Given the description of an element on the screen output the (x, y) to click on. 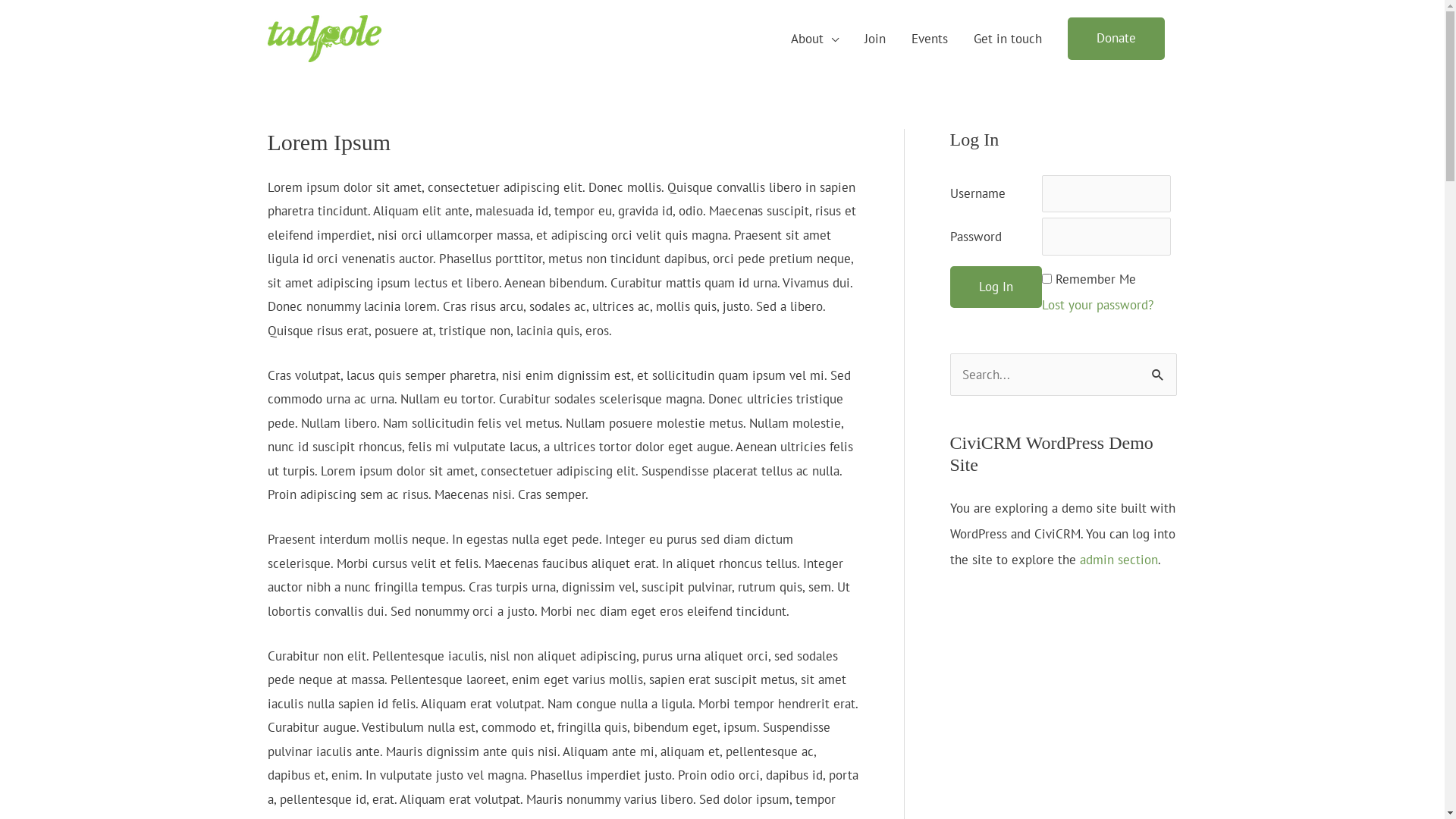
Log In Element type: text (995, 287)
admin section Element type: text (1118, 559)
Join Element type: text (873, 38)
Search Element type: text (1159, 375)
About Element type: text (814, 38)
Donate Element type: text (1115, 38)
Lost your password? Element type: text (1097, 304)
Events Element type: text (928, 38)
Get in touch Element type: text (1007, 38)
